Given the description of an element on the screen output the (x, y) to click on. 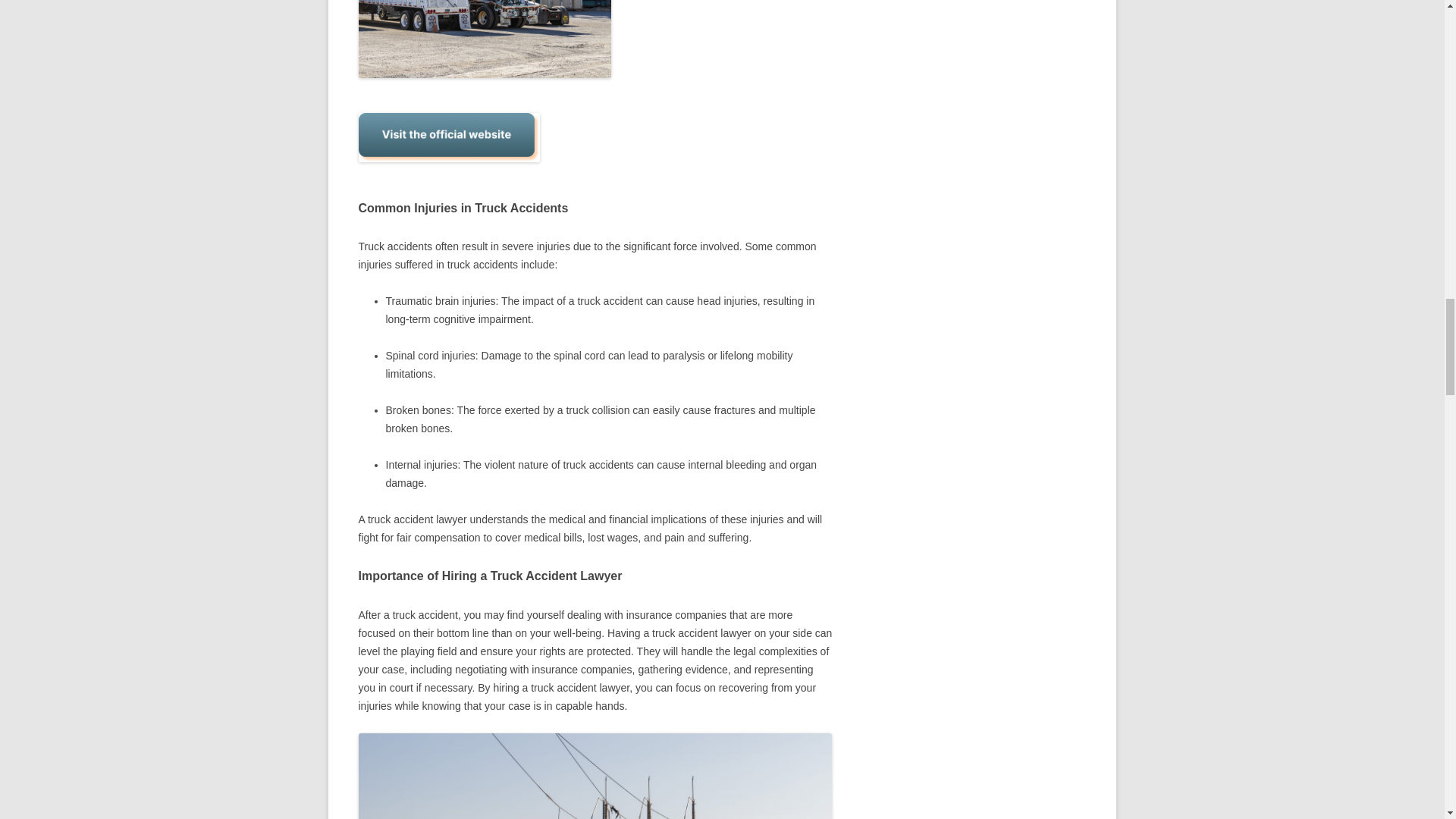
Truck Accident Lawyer Roosevelt Utah (594, 776)
Truck Accident Lawyer Roosevelt Utah (484, 38)
